Given the description of an element on the screen output the (x, y) to click on. 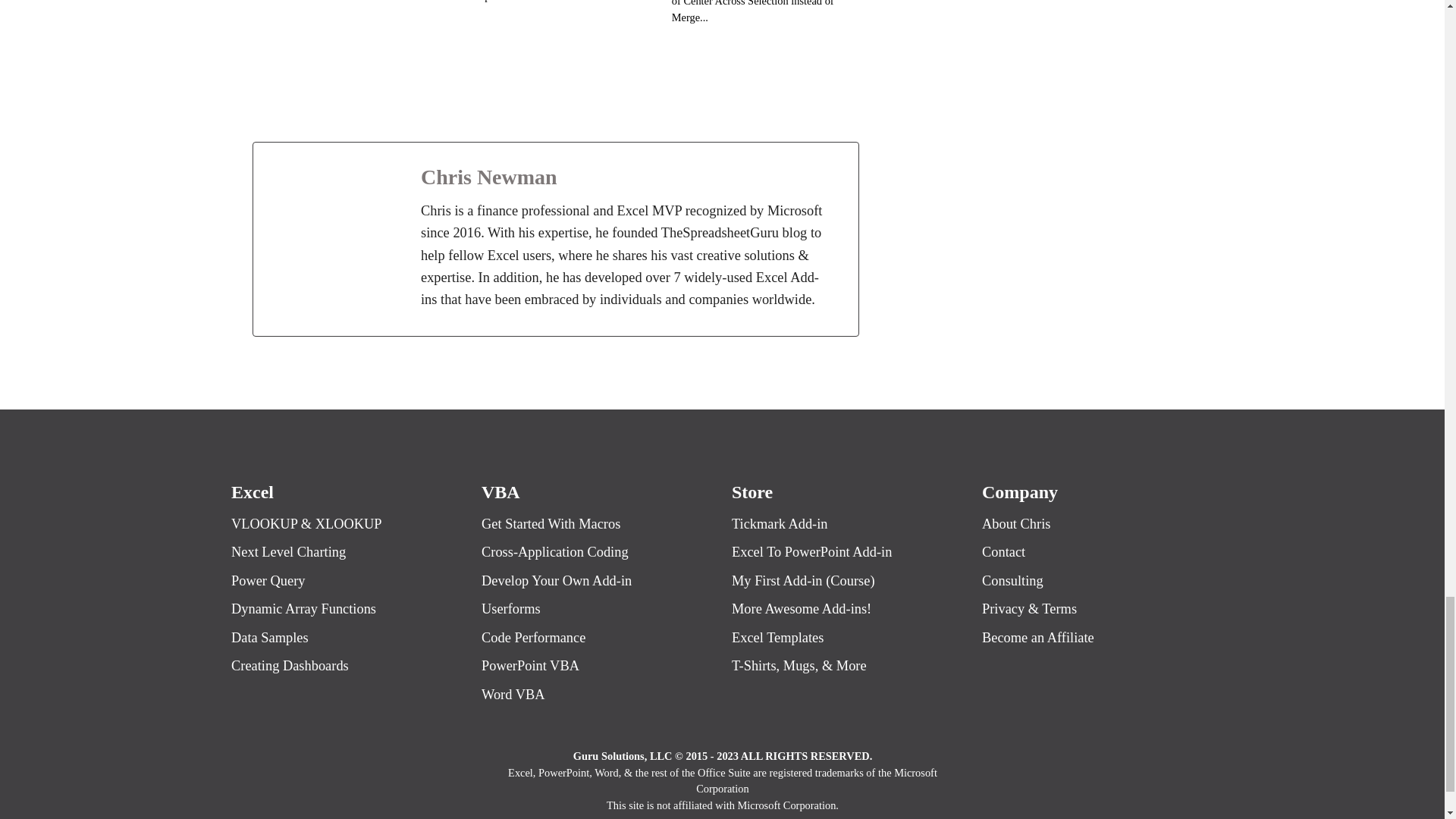
Userforms (596, 608)
Next Level Charting (346, 552)
Excel (251, 492)
Develop Your Own Add-in (596, 581)
Power Query (346, 581)
VBA (499, 492)
Cross-Application Coding (596, 552)
Get Started With Macros (596, 524)
Dynamic Array Functions (346, 608)
